Given the description of an element on the screen output the (x, y) to click on. 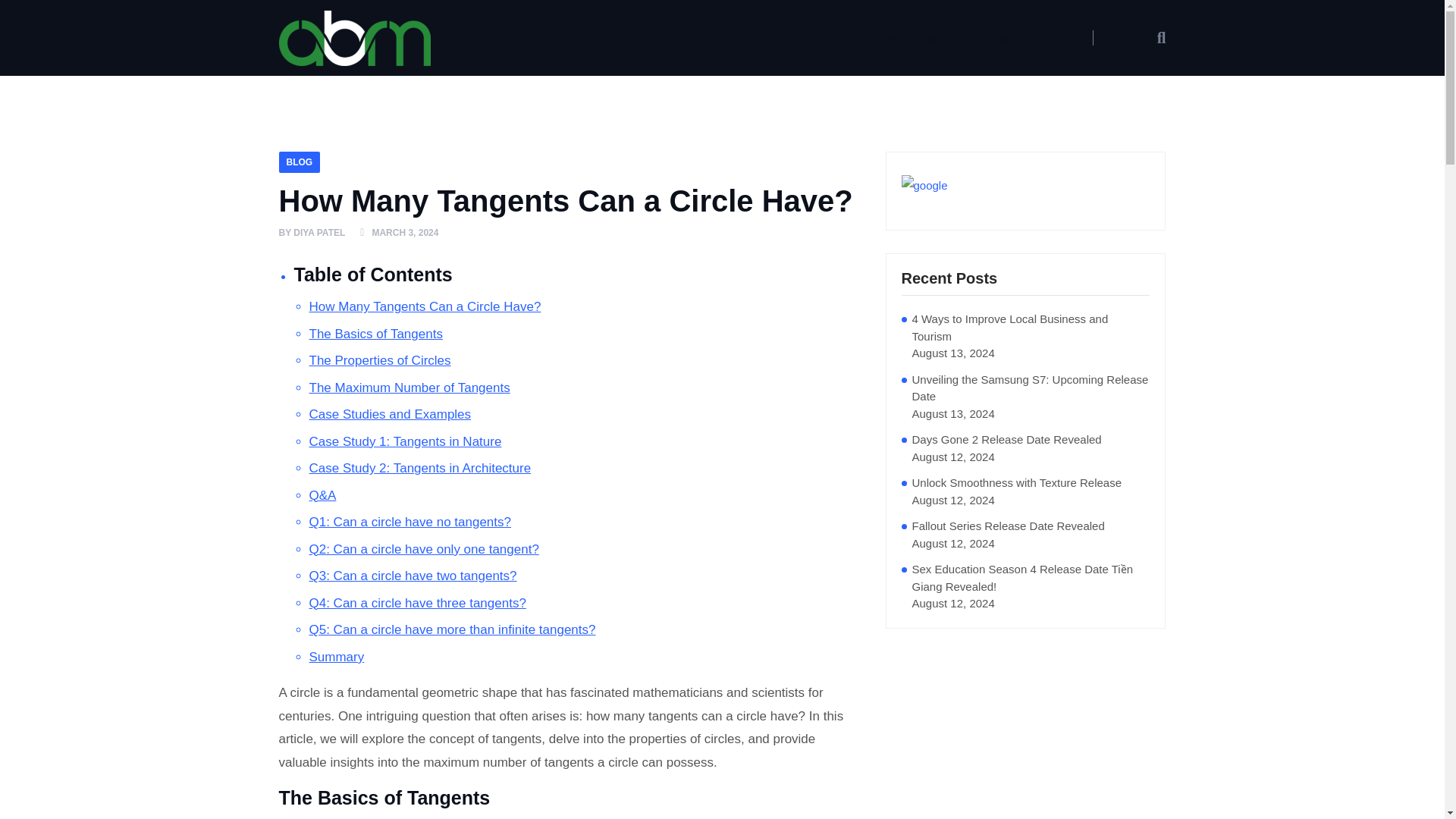
Case Study 1: Tangents in Nature (405, 442)
BLOG (299, 161)
Q2: Can a circle have only one tangent? (423, 549)
The Properties of Circles (379, 361)
4 Ways to Improve Local Business and Tourism (1030, 327)
Q4: Can a circle have three tangents? (416, 603)
How Many Tangents Can a Circle Have? (424, 306)
DIYA PATEL (319, 233)
Case Studies and Examples (389, 414)
The Maximum Number of Tangents (409, 388)
